Given the description of an element on the screen output the (x, y) to click on. 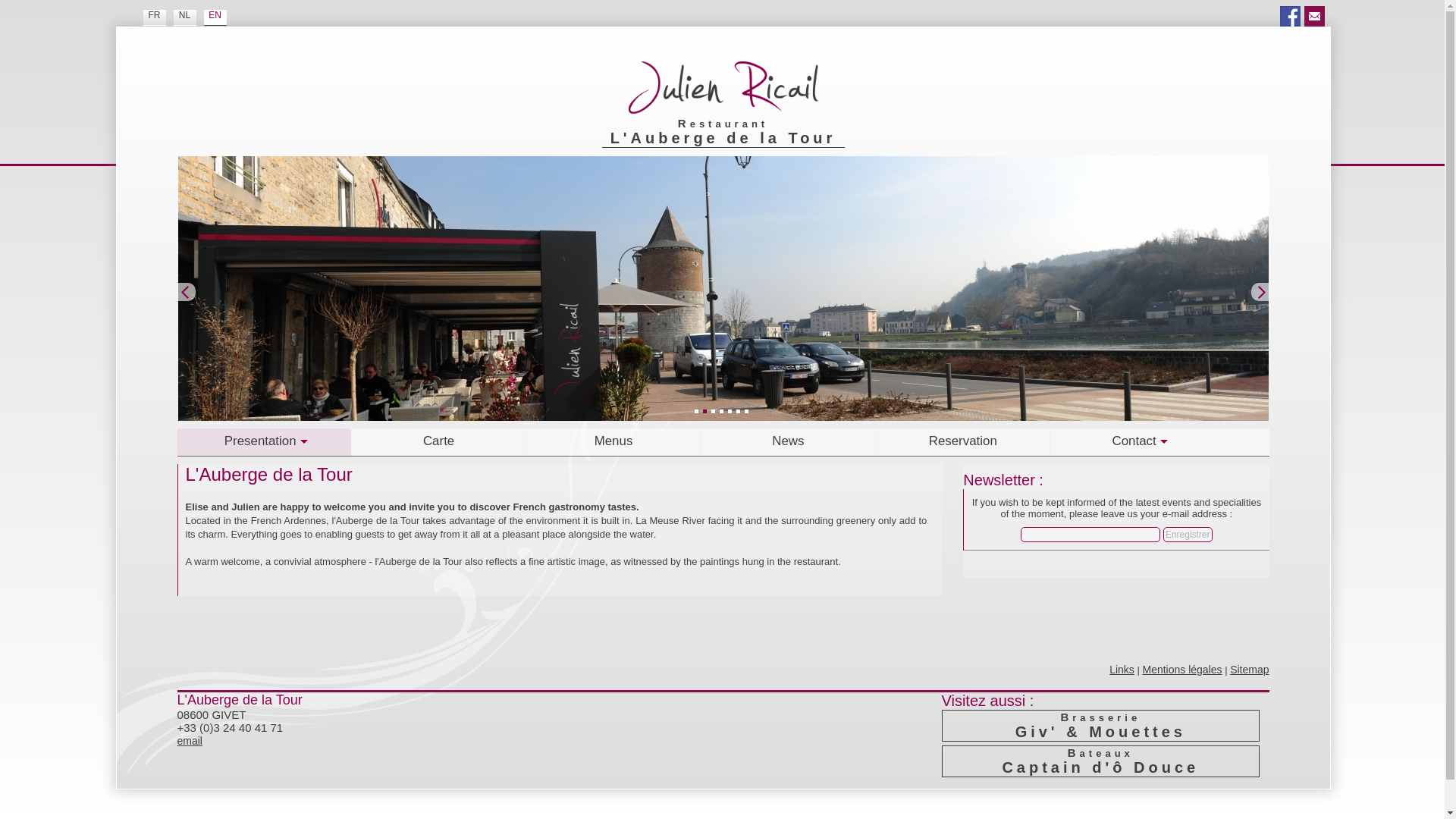
NL (184, 17)
Carte (438, 441)
email (189, 740)
FR (153, 17)
Sitemap (1249, 669)
Enregistrer (1187, 534)
Presentation (264, 441)
Reservation (962, 441)
News (788, 441)
Contact (1136, 441)
Enregistrer (1187, 534)
Links (1121, 669)
Menus (612, 441)
